Given the description of an element on the screen output the (x, y) to click on. 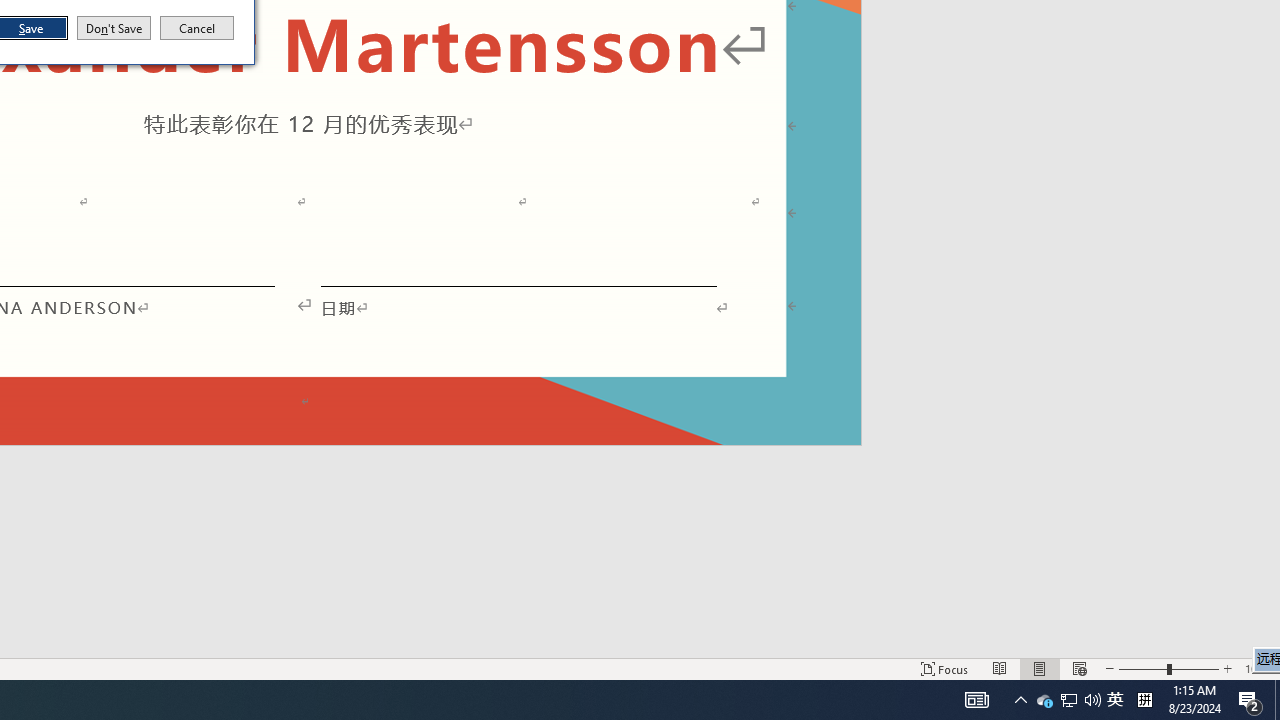
Zoom In (1227, 668)
Notification Chevron (1020, 699)
Action Center, 2 new notifications (1250, 699)
Focus  (1069, 699)
Don't Save (944, 668)
AutomationID: 4105 (113, 27)
User Promoted Notification Area (1115, 699)
Cancel (976, 699)
Read Mode (1068, 699)
Zoom Out (197, 27)
Web Layout (1000, 668)
